Given the description of an element on the screen output the (x, y) to click on. 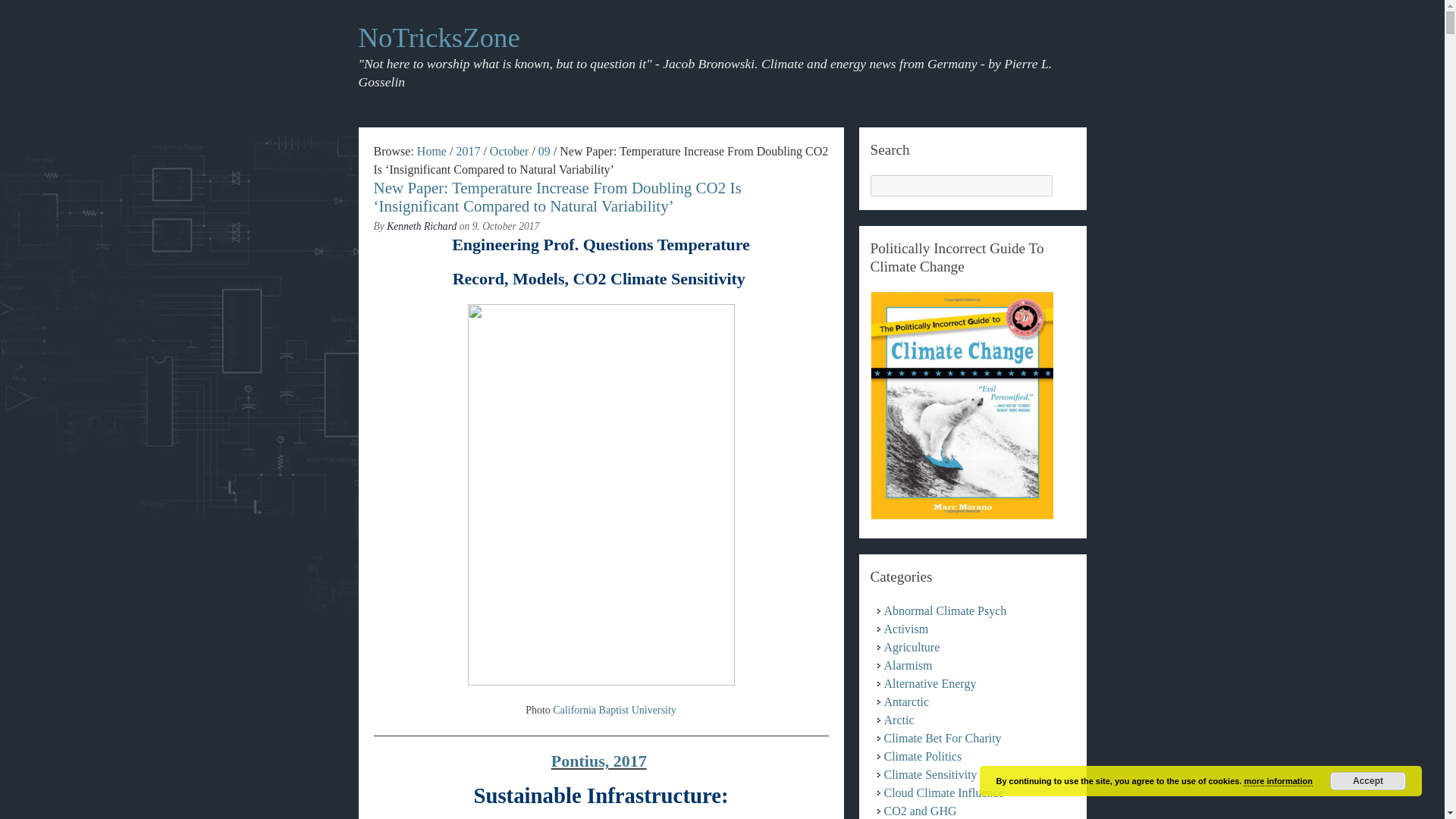
Kenneth Richard (422, 225)
NoTricksZone (438, 37)
NoTricksZone (438, 37)
2017 (467, 151)
09 (544, 151)
Home (431, 151)
October 2017 (509, 151)
California Baptist University (615, 709)
Monday, October 9th, 2017, 11:31 am (505, 225)
October 9, 2017 (544, 151)
